Given the description of an element on the screen output the (x, y) to click on. 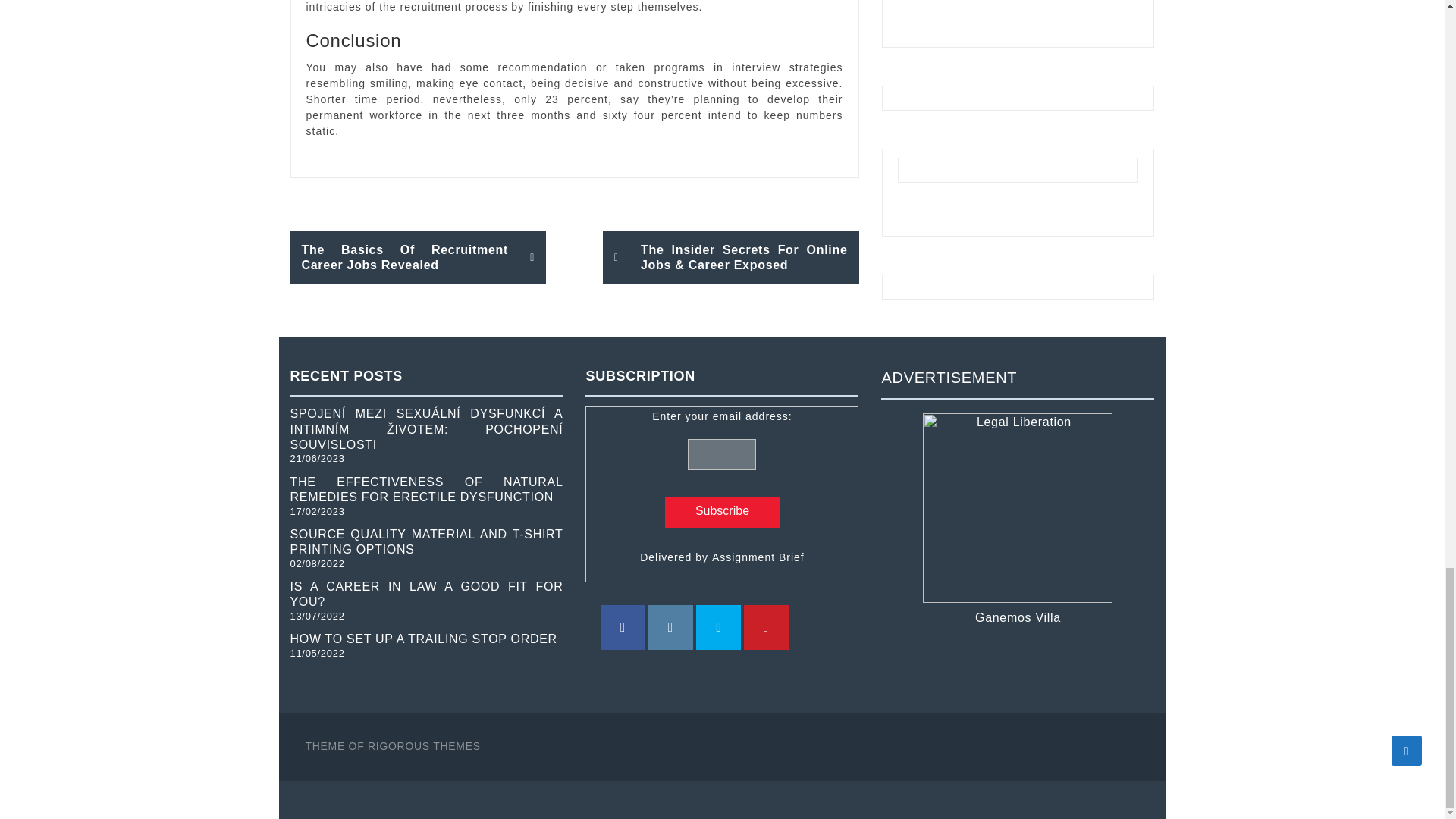
The Basics Of Recruitment Career Jobs Revealed (417, 257)
Subscribe (721, 511)
